Given the description of an element on the screen output the (x, y) to click on. 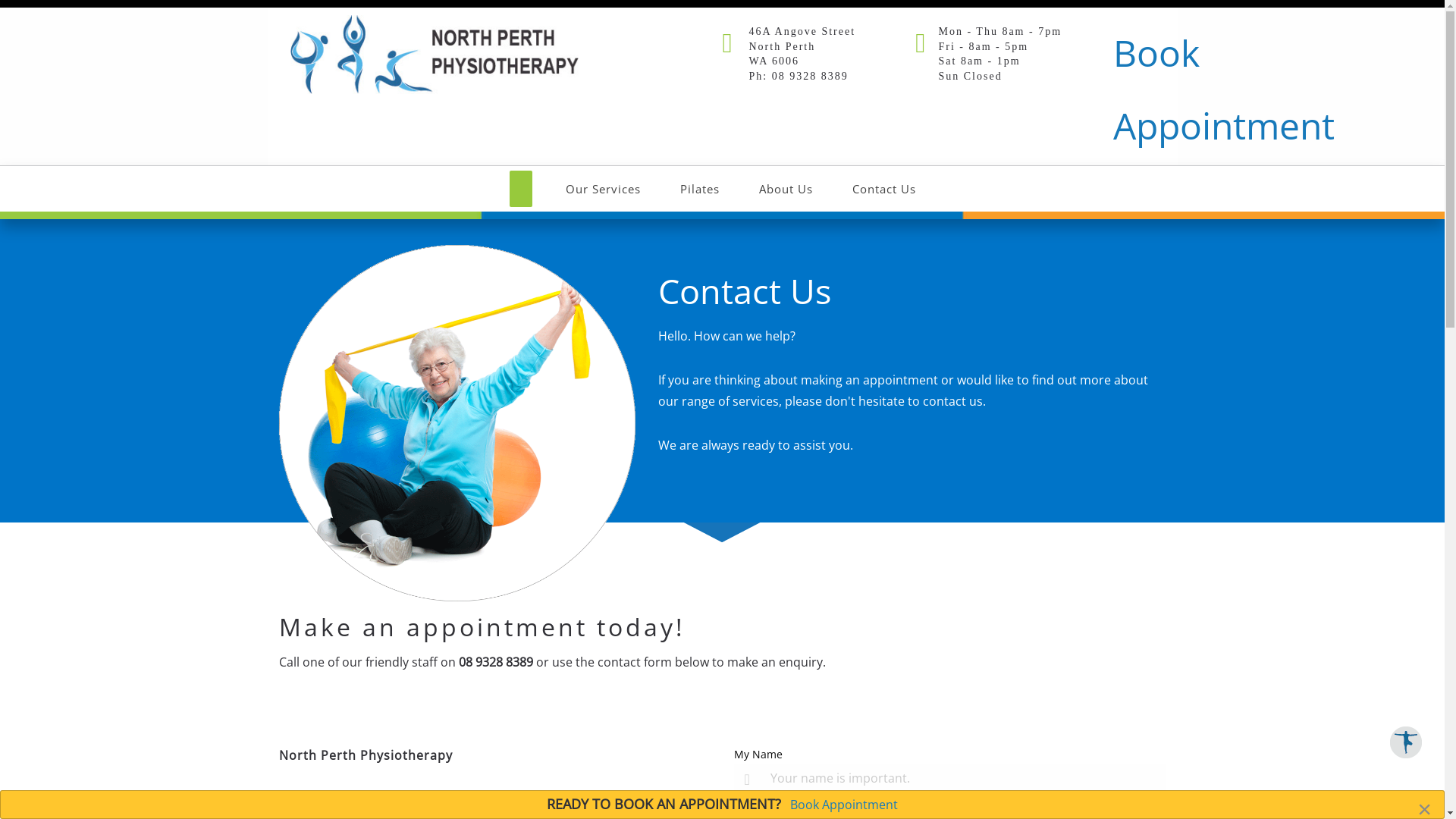
Book Appointment Element type: text (1223, 89)
Home Page Element type: text (520, 188)
Pilates Element type: text (698, 188)
Ph: 08 9328 8389 Element type: text (798, 75)
Home Page Element type: text (433, 52)
08 9328 8389 Element type: text (495, 661)
Return to top Element type: hover (1405, 742)
Book Appointment Element type: text (843, 804)
Learn more about our services
Our Services Element type: text (603, 188)
About Us Element type: text (784, 188)
Contact Us Element type: text (883, 188)
